Given the description of an element on the screen output the (x, y) to click on. 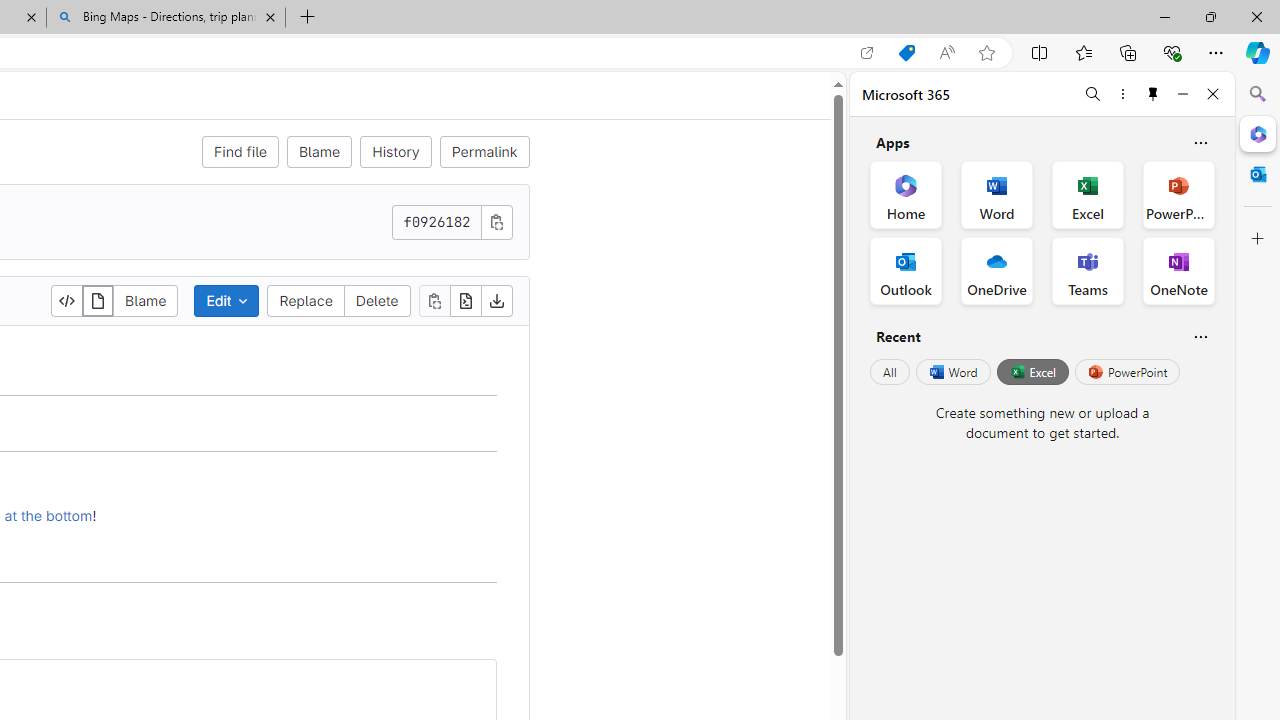
Download (496, 300)
Word Office App (996, 194)
Display rendered file (98, 300)
Permalink (484, 151)
